Given the description of an element on the screen output the (x, y) to click on. 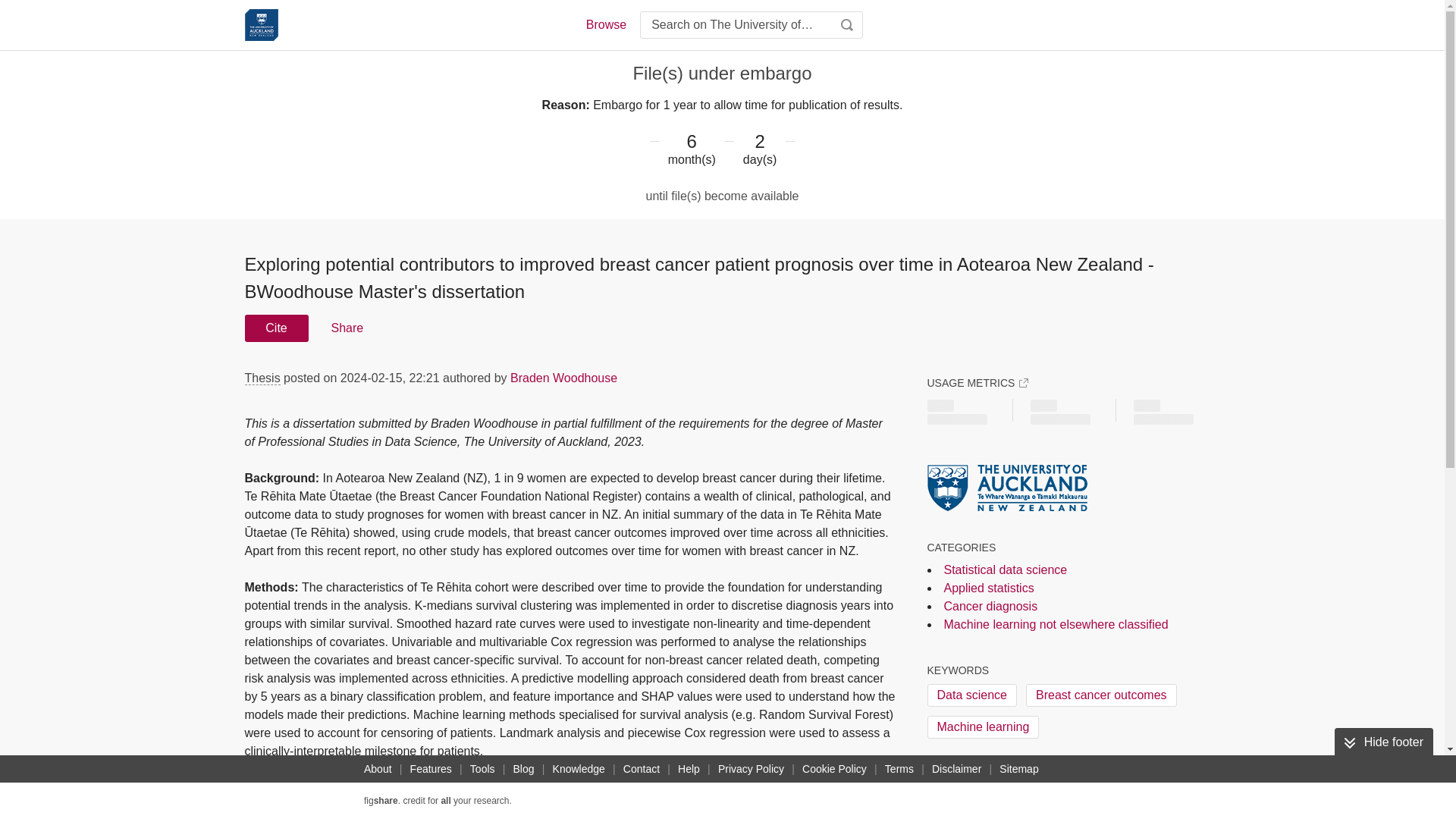
Browse (605, 24)
Privacy Policy (751, 769)
Applied statistics (988, 587)
Tools (482, 769)
Machine learning (982, 726)
About (377, 769)
Machine learning not elsewhere classified (1055, 624)
Contact (640, 769)
Features (431, 769)
Cookie Policy (833, 769)
